Given the description of an element on the screen output the (x, y) to click on. 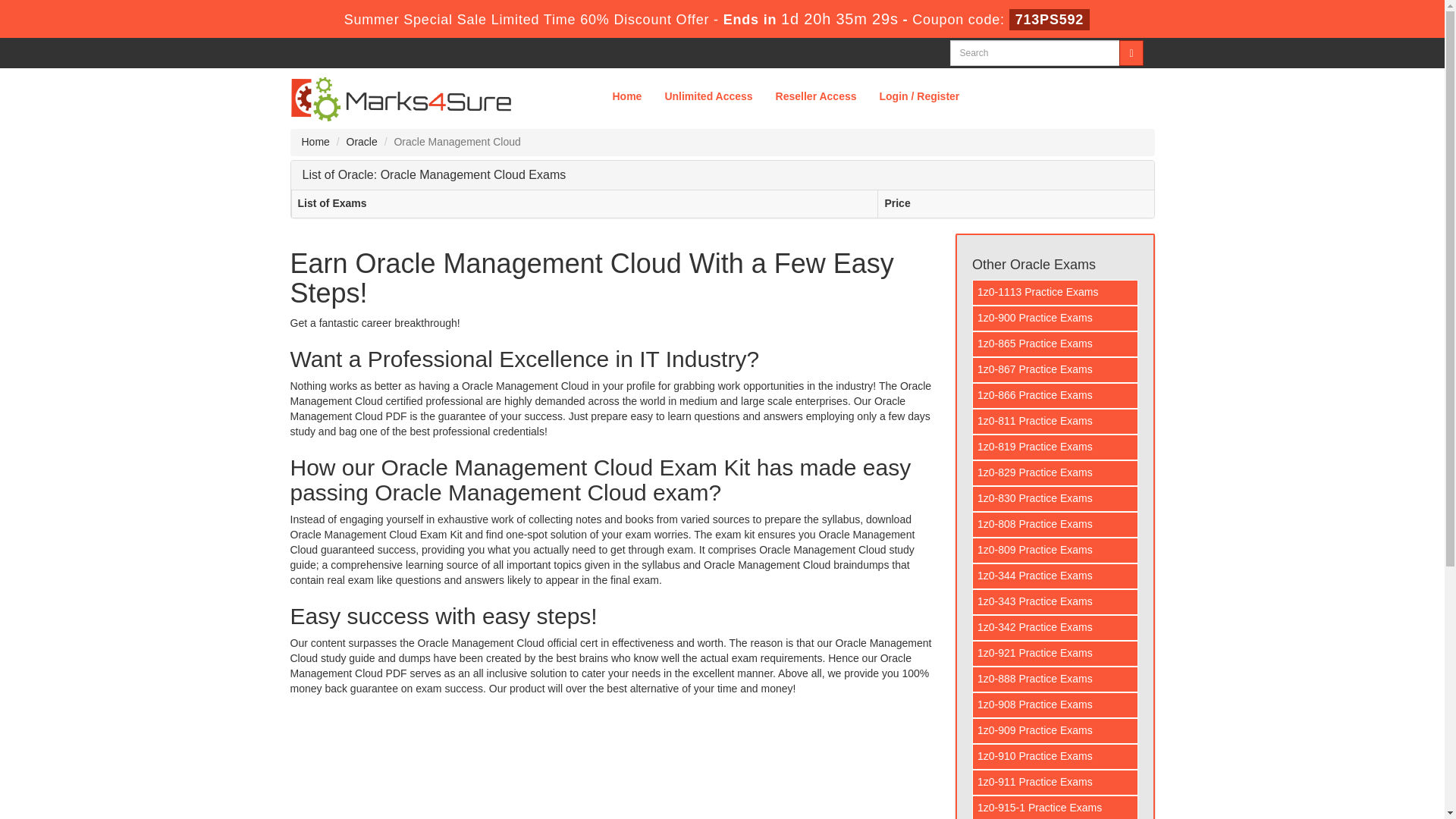
1z0-888 Practice Exams (1055, 679)
1z0-829 (1055, 473)
Unlimited Access (707, 95)
1z0-811 Practice Exams (1055, 421)
1z0-819 (1055, 447)
1z0-908 (1055, 705)
1z0-1113 Practice Exams (1055, 292)
1z0-1113 (1055, 292)
1z0-344 Practice Exams (1055, 575)
1z0-808 (1055, 524)
1z0-911 Practice Exams (1055, 782)
1z0-900 (1055, 318)
1z0-921 Practice Exams (1055, 653)
1z0-911 (1055, 782)
1z0-910 (1055, 756)
